Given the description of an element on the screen output the (x, y) to click on. 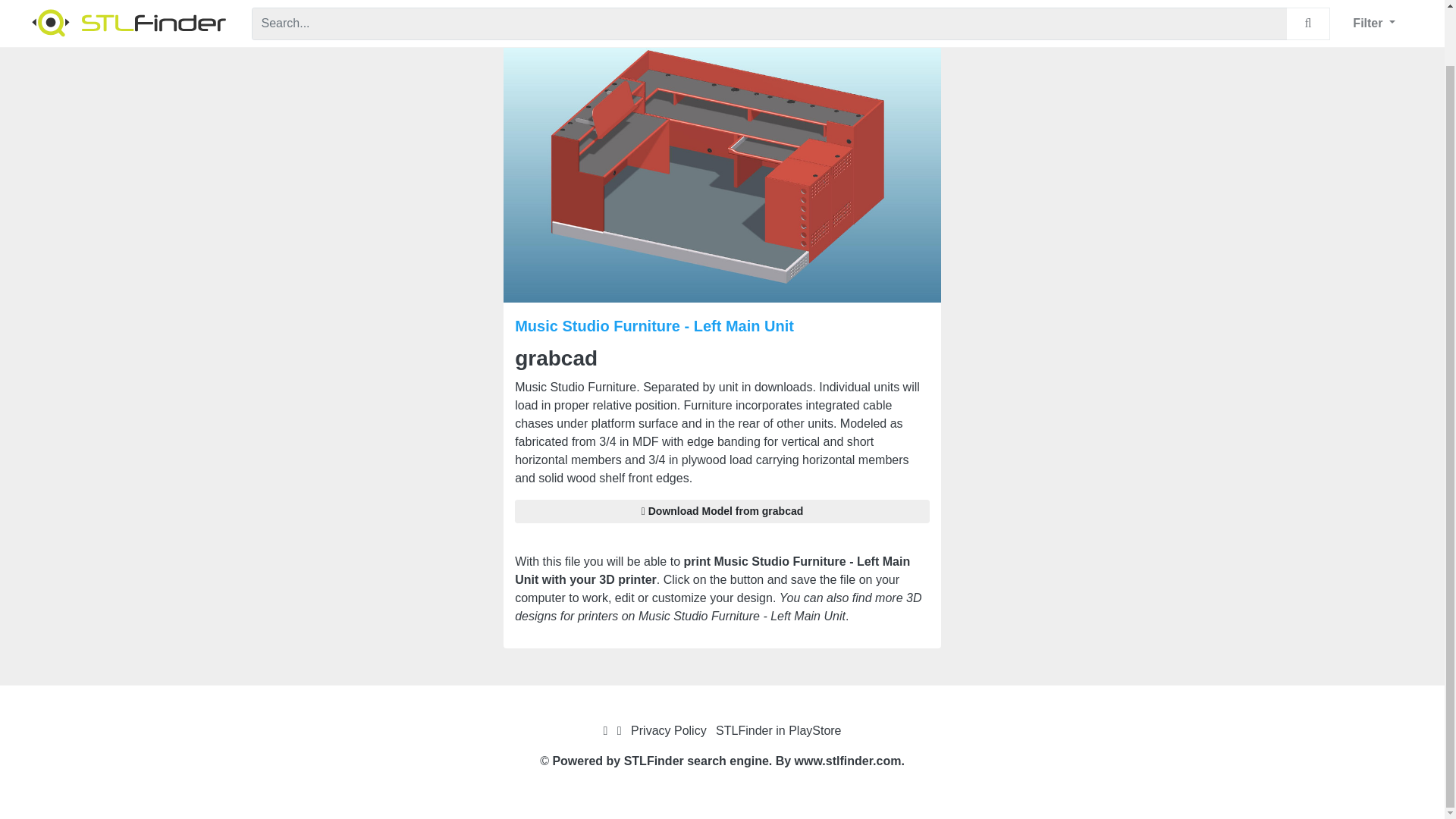
Privacy Policy (668, 730)
www.stlfinder.com (847, 760)
STLFinder in PlayStore (778, 730)
Download Model from grabcad (722, 511)
